Given the description of an element on the screen output the (x, y) to click on. 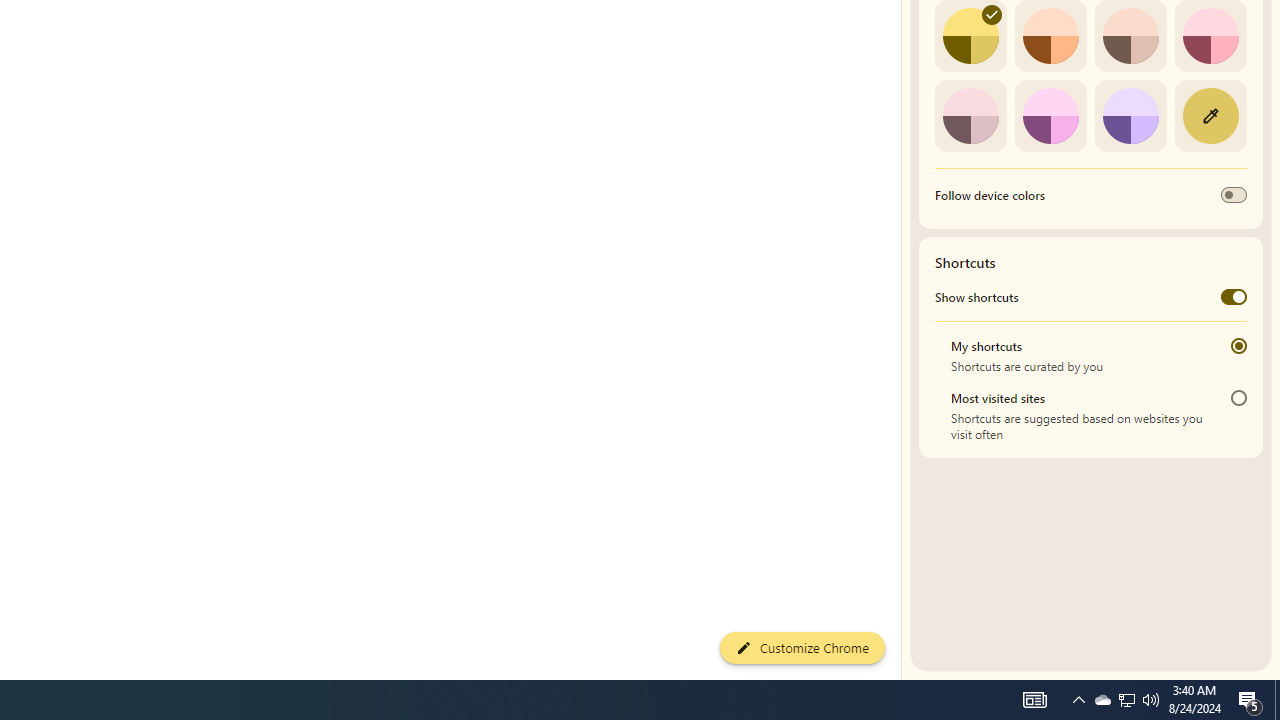
Violet (1130, 115)
